Given the description of an element on the screen output the (x, y) to click on. 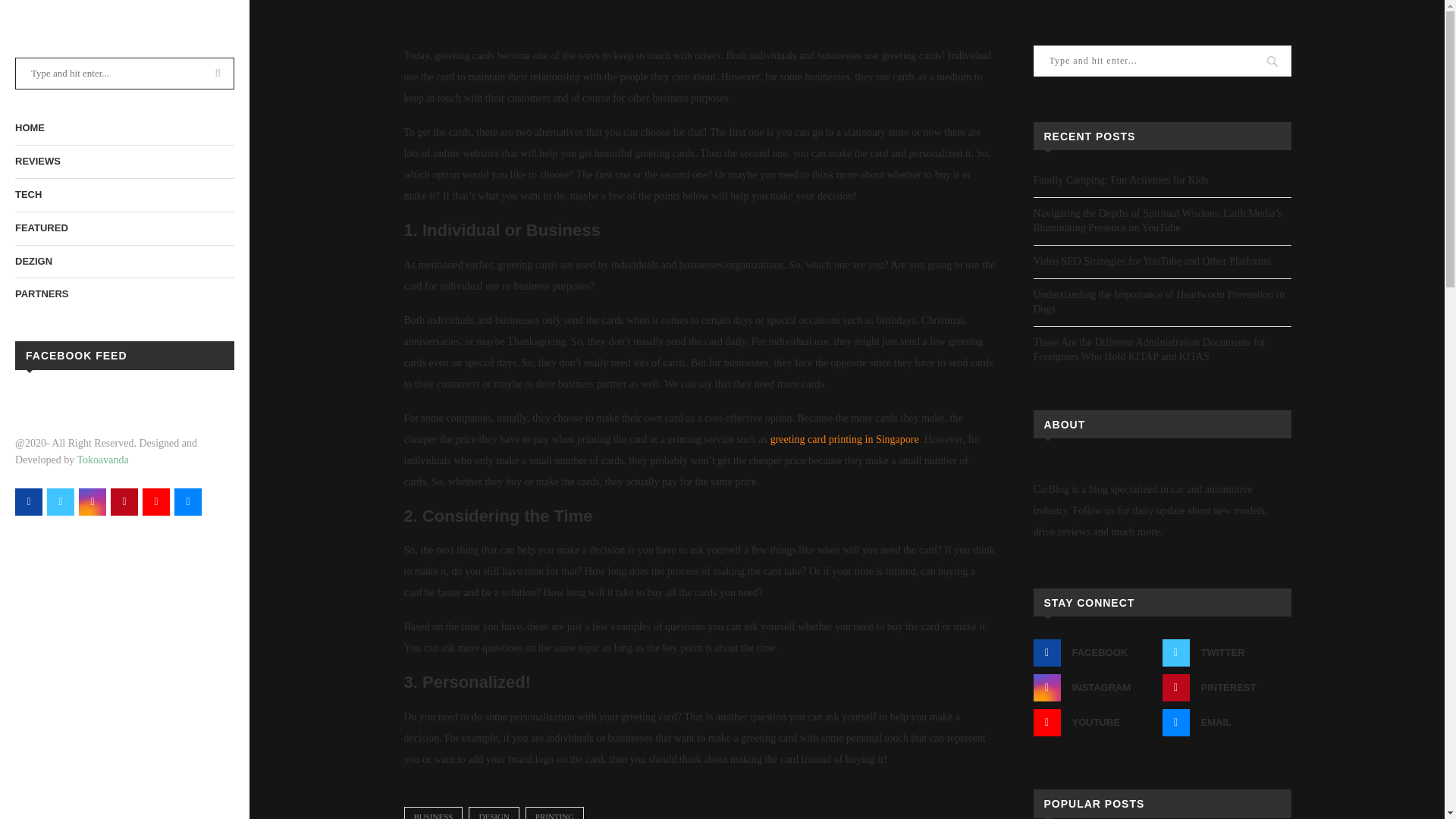
Family Camping: Fun Activities for Kids (1120, 179)
Facebook (35, 398)
DESIGN (493, 812)
Understanding the Importance of Heartworm Prevention in Dogs (1158, 302)
TECH (124, 195)
HOME (124, 128)
PRINTING (554, 812)
greeting card printing in Singapore (844, 439)
Video SEO Strategies for YouTube and Other Platforms (1150, 260)
FEATURED (124, 228)
PARTNERS (124, 294)
REVIEWS (124, 161)
DEZIGN (124, 261)
Tokoavanda (102, 460)
